Given the description of an element on the screen output the (x, y) to click on. 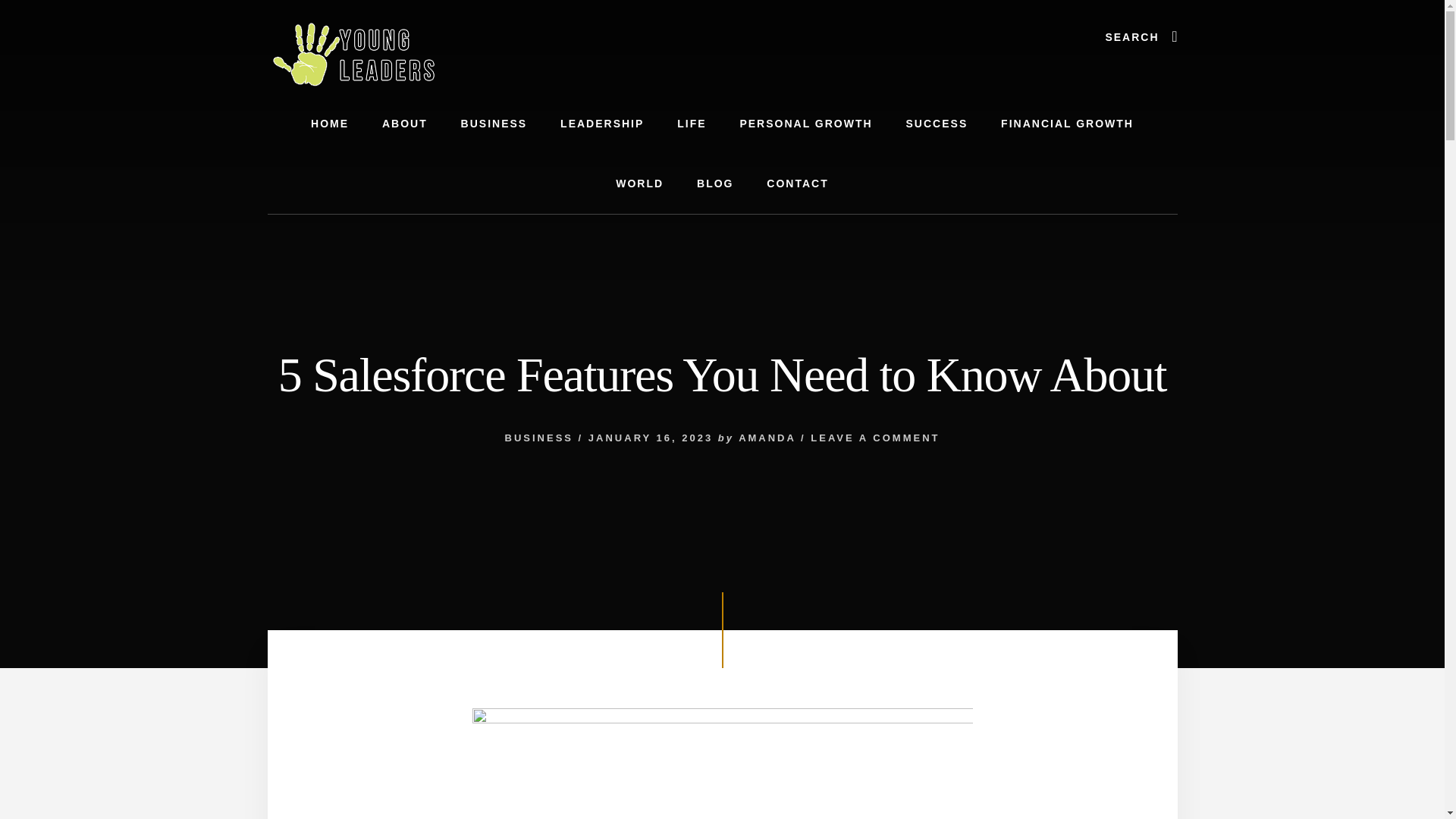
LEADERSHIP (601, 123)
BUSINESS (494, 123)
HOME (329, 123)
SUCCESS (937, 123)
BLOG (714, 183)
FINANCIAL GROWTH (1066, 123)
CONTACT (797, 183)
ABOUT (404, 123)
LIFE (691, 123)
WORLD (638, 183)
PERSONAL GROWTH (804, 123)
